Given the description of an element on the screen output the (x, y) to click on. 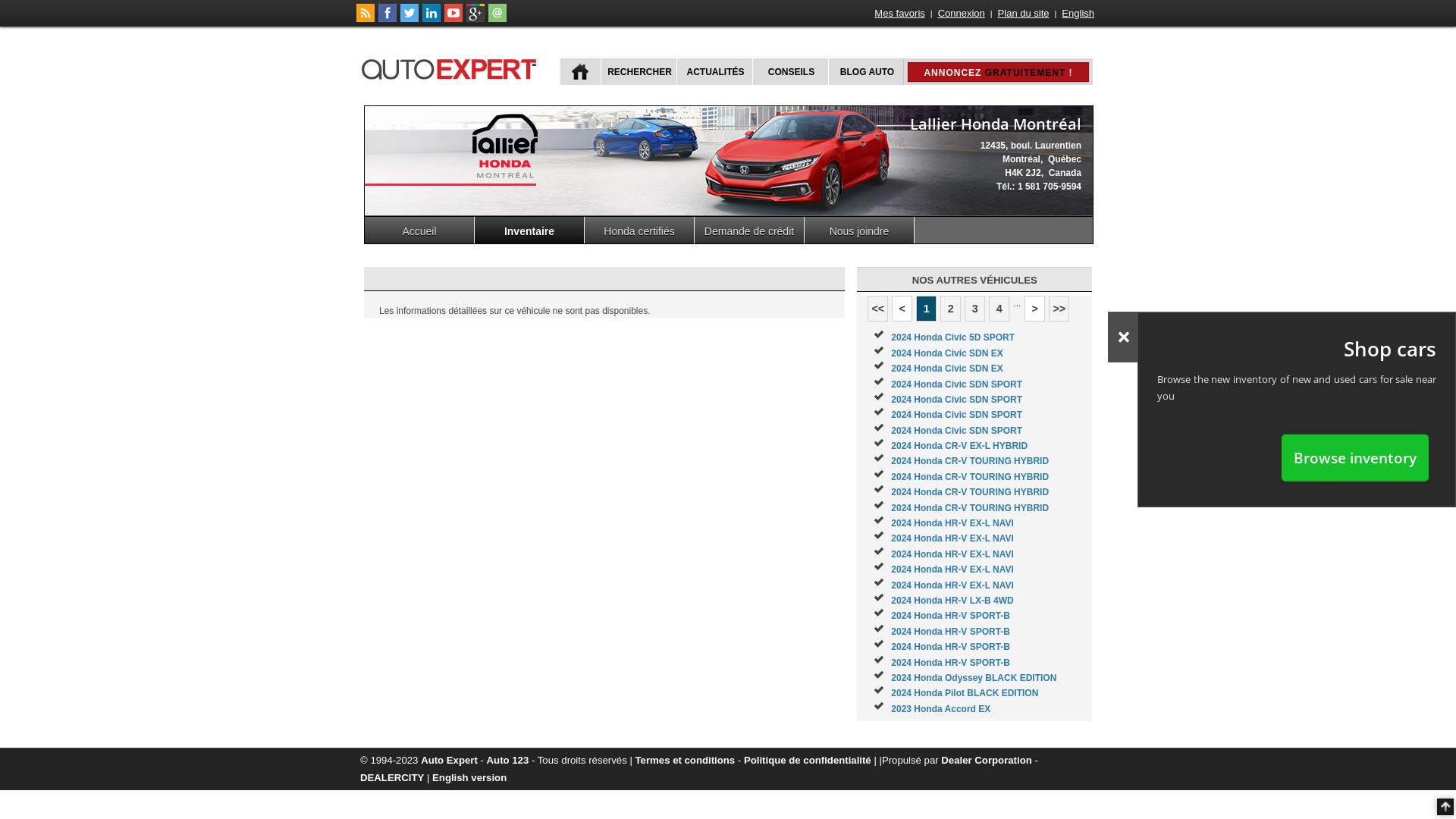
Plan du site Element type: text (1023, 13)
BLOG AUTO Element type: text (865, 71)
Suivez autoExpert.ca sur Google Plus Element type: hover (475, 18)
2024 Honda HR-V EX-L NAVI Element type: text (952, 522)
Connexion Element type: text (961, 13)
Mes favoris Element type: text (898, 13)
2024 Honda Civic SDN SPORT Element type: text (956, 399)
2024 Honda CR-V TOURING HYBRID Element type: text (969, 460)
Inventaire Element type: text (529, 229)
Suivez autoExpert.ca sur Twitter Element type: hover (409, 18)
2024 Honda Pilot BLACK EDITION Element type: text (964, 692)
2024 Honda HR-V LX-B 4WD Element type: text (952, 600)
1 Element type: text (926, 308)
Accueil Element type: text (419, 229)
2024 Honda CR-V TOURING HYBRID Element type: text (969, 507)
RECHERCHER Element type: text (637, 71)
ACCUEIL Element type: text (580, 71)
2024 Honda Civic SDN SPORT Element type: text (956, 414)
2024 Honda CR-V EX-L HYBRID Element type: text (959, 445)
Suivez autoExpert.ca sur Youtube Element type: hover (453, 18)
2024 Honda HR-V SPORT-B Element type: text (950, 646)
Auto Expert Element type: text (448, 759)
2024 Honda CR-V TOURING HYBRID Element type: text (969, 476)
3 Element type: text (974, 308)
< Element type: text (901, 308)
2023 Honda Accord EX Element type: text (940, 708)
2024 Honda Civic SDN EX Element type: text (946, 353)
DEALERCITY Element type: text (391, 777)
4 Element type: text (998, 308)
Dealer Corporation Element type: text (986, 759)
2024 Honda Civic SDN EX Element type: text (946, 368)
Termes et conditions Element type: text (685, 759)
English Element type: text (1077, 13)
<< Element type: text (877, 308)
Suivez Publications Le Guide Inc. sur LinkedIn Element type: hover (431, 18)
2024 Honda HR-V SPORT-B Element type: text (950, 662)
2024 Honda HR-V EX-L NAVI Element type: text (952, 569)
> Element type: text (1034, 308)
2024 Honda HR-V EX-L NAVI Element type: text (952, 554)
2024 Honda CR-V TOURING HYBRID Element type: text (969, 491)
>> Element type: text (1058, 308)
2024 Honda Civic SDN SPORT Element type: text (956, 384)
Nous joindre Element type: text (859, 229)
Suivez autoExpert.ca sur Facebook Element type: hover (387, 18)
Browse inventory Element type: text (1354, 457)
2024 Honda HR-V SPORT-B Element type: text (950, 631)
2024 Honda Odyssey BLACK EDITION Element type: text (973, 677)
2 Element type: text (950, 308)
Joindre autoExpert.ca Element type: hover (497, 18)
2024 Honda HR-V SPORT-B Element type: text (950, 615)
2024 Honda Civic 5D SPORT Element type: text (952, 337)
ANNONCEZ GRATUITEMENT ! Element type: text (997, 71)
English version Element type: text (469, 777)
autoExpert.ca Element type: text (451, 66)
2024 Honda HR-V EX-L NAVI Element type: text (952, 538)
2024 Honda HR-V EX-L NAVI Element type: text (952, 585)
CONSEILS Element type: text (789, 71)
2024 Honda Civic SDN SPORT Element type: text (956, 430)
Auto 123 Element type: text (507, 759)
